Given the description of an element on the screen output the (x, y) to click on. 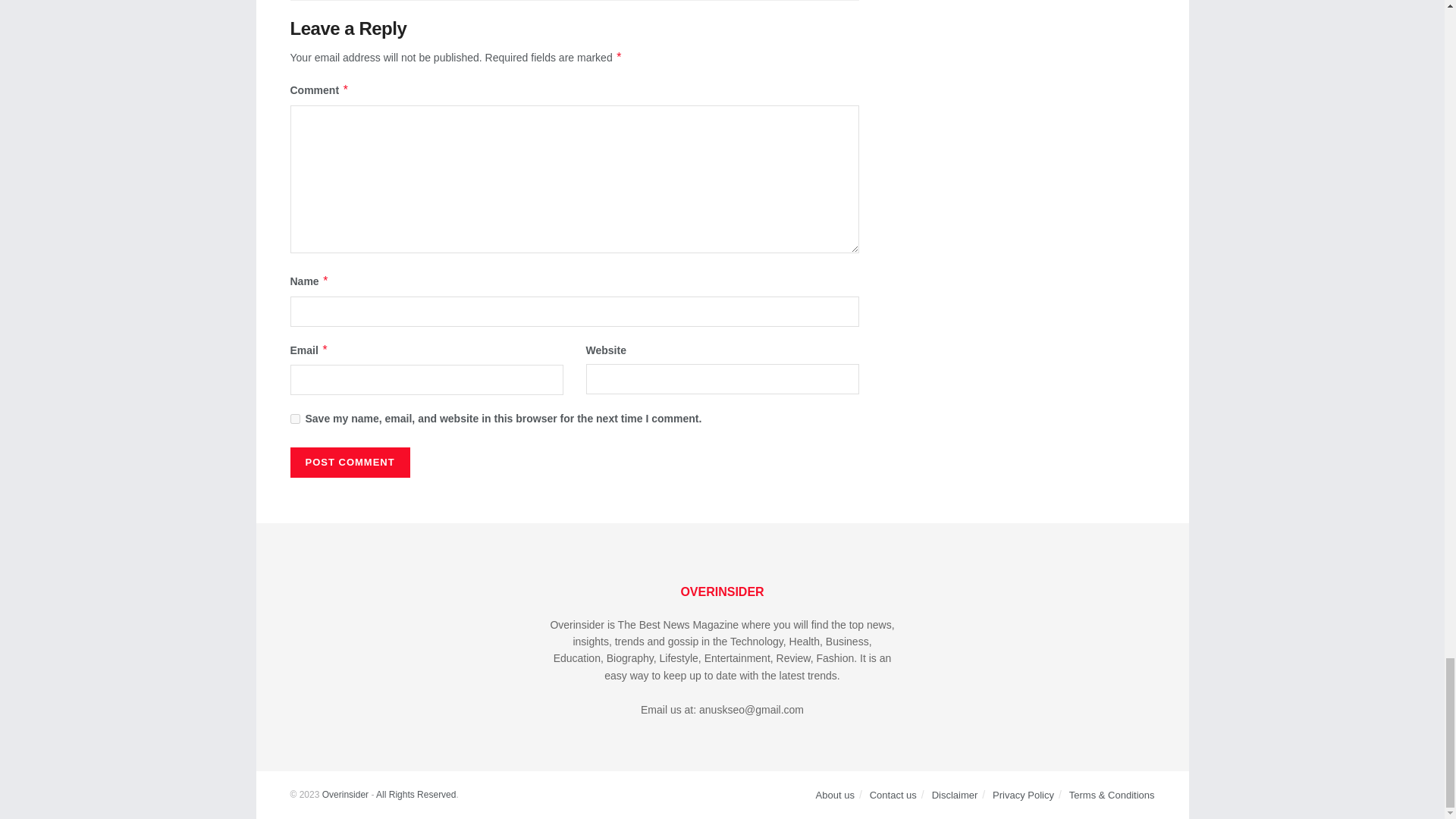
All Rights Reserved (415, 794)
Post Comment (349, 462)
yes (294, 419)
Overinsider (344, 794)
